Given the description of an element on the screen output the (x, y) to click on. 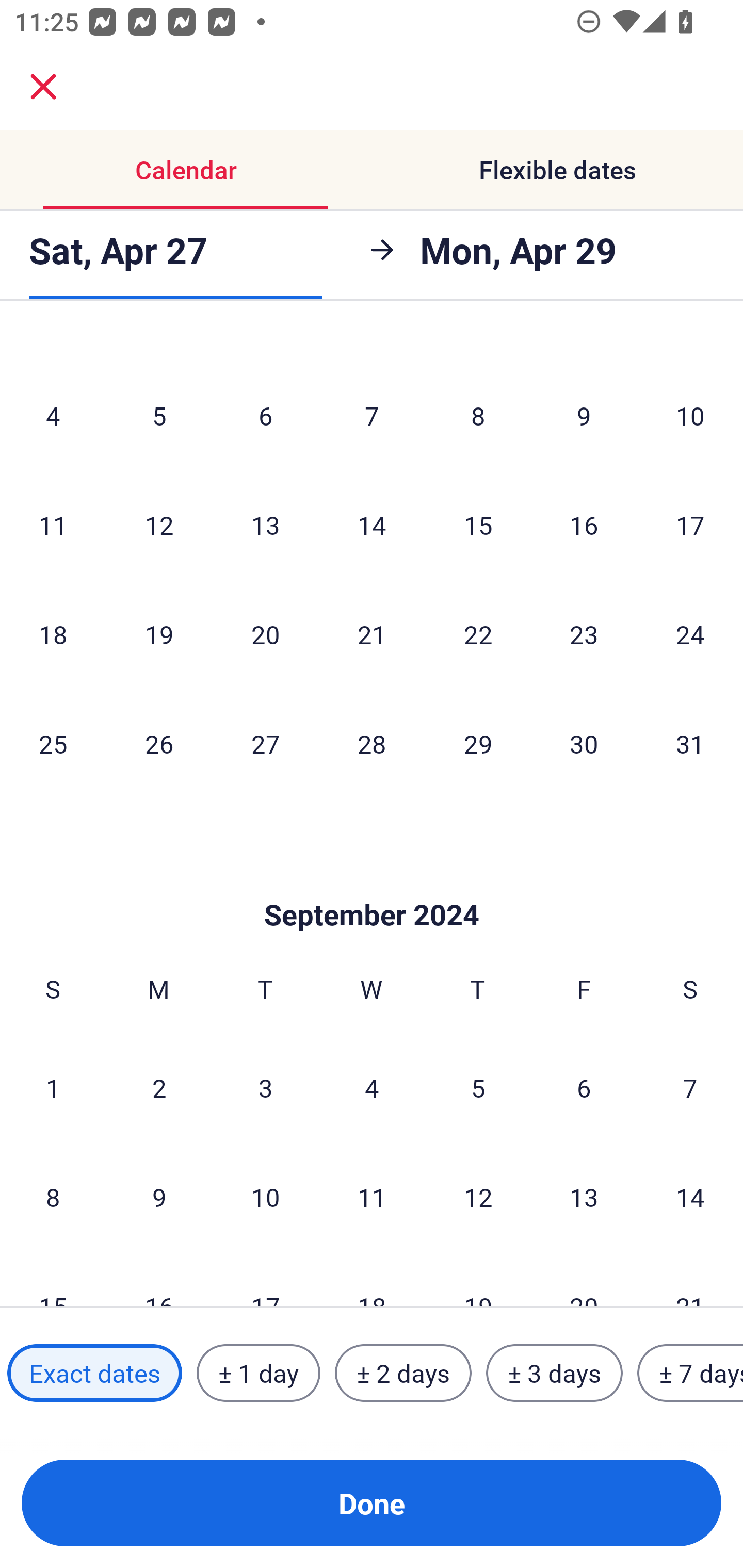
close. (43, 86)
Flexible dates (557, 170)
4 Sunday, August 4, 2024 (53, 415)
5 Monday, August 5, 2024 (159, 415)
6 Tuesday, August 6, 2024 (265, 415)
7 Wednesday, August 7, 2024 (371, 415)
8 Thursday, August 8, 2024 (477, 415)
9 Friday, August 9, 2024 (584, 415)
10 Saturday, August 10, 2024 (690, 415)
11 Sunday, August 11, 2024 (53, 524)
12 Monday, August 12, 2024 (159, 524)
13 Tuesday, August 13, 2024 (265, 524)
14 Wednesday, August 14, 2024 (371, 524)
15 Thursday, August 15, 2024 (477, 524)
16 Friday, August 16, 2024 (584, 524)
17 Saturday, August 17, 2024 (690, 524)
18 Sunday, August 18, 2024 (53, 633)
19 Monday, August 19, 2024 (159, 633)
20 Tuesday, August 20, 2024 (265, 633)
21 Wednesday, August 21, 2024 (371, 633)
